Given the description of an element on the screen output the (x, y) to click on. 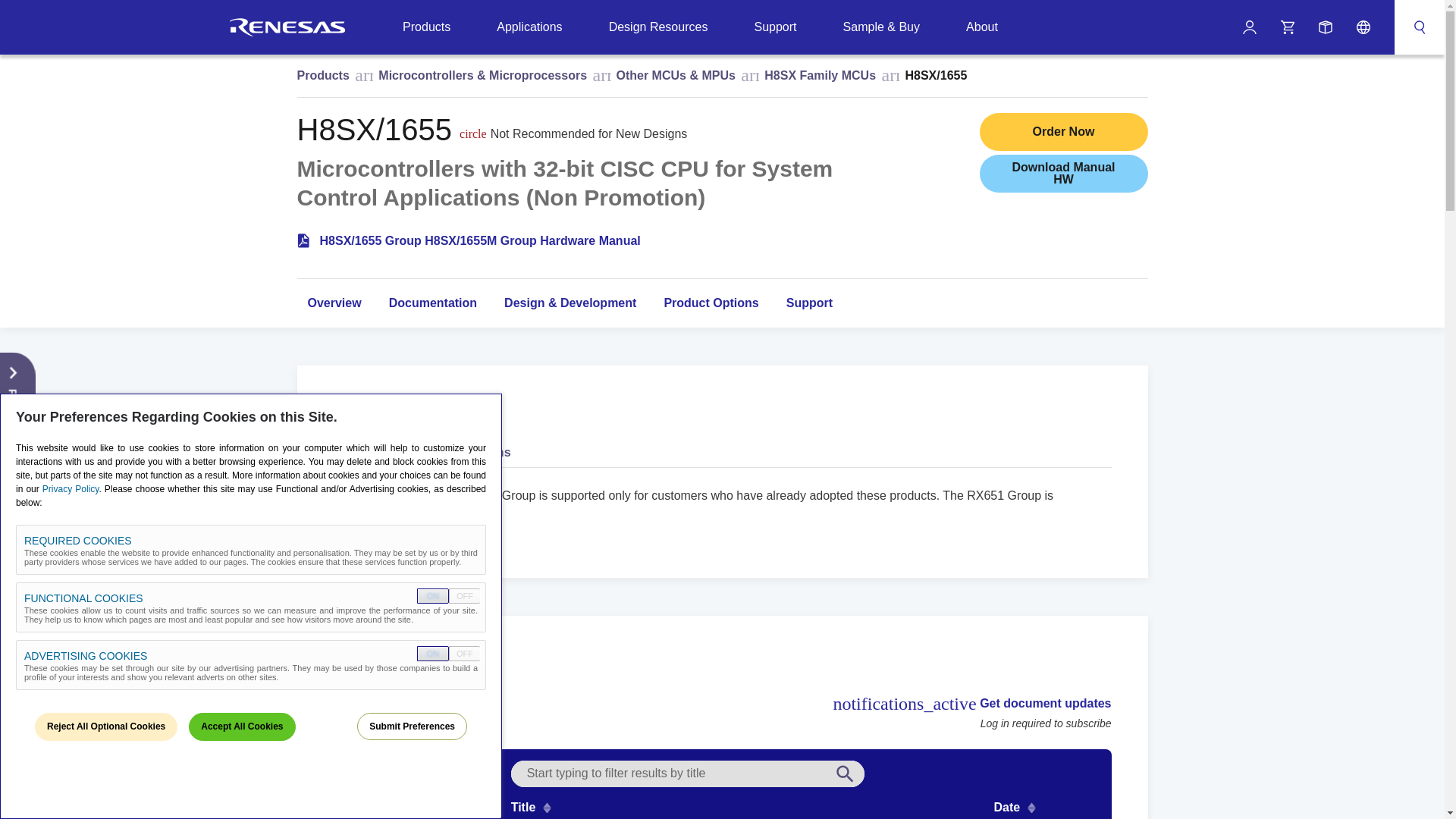
Sort by Type (419, 807)
Renesas Electronics Corporation (287, 26)
Language (1363, 27)
Applications (529, 27)
